Given the description of an element on the screen output the (x, y) to click on. 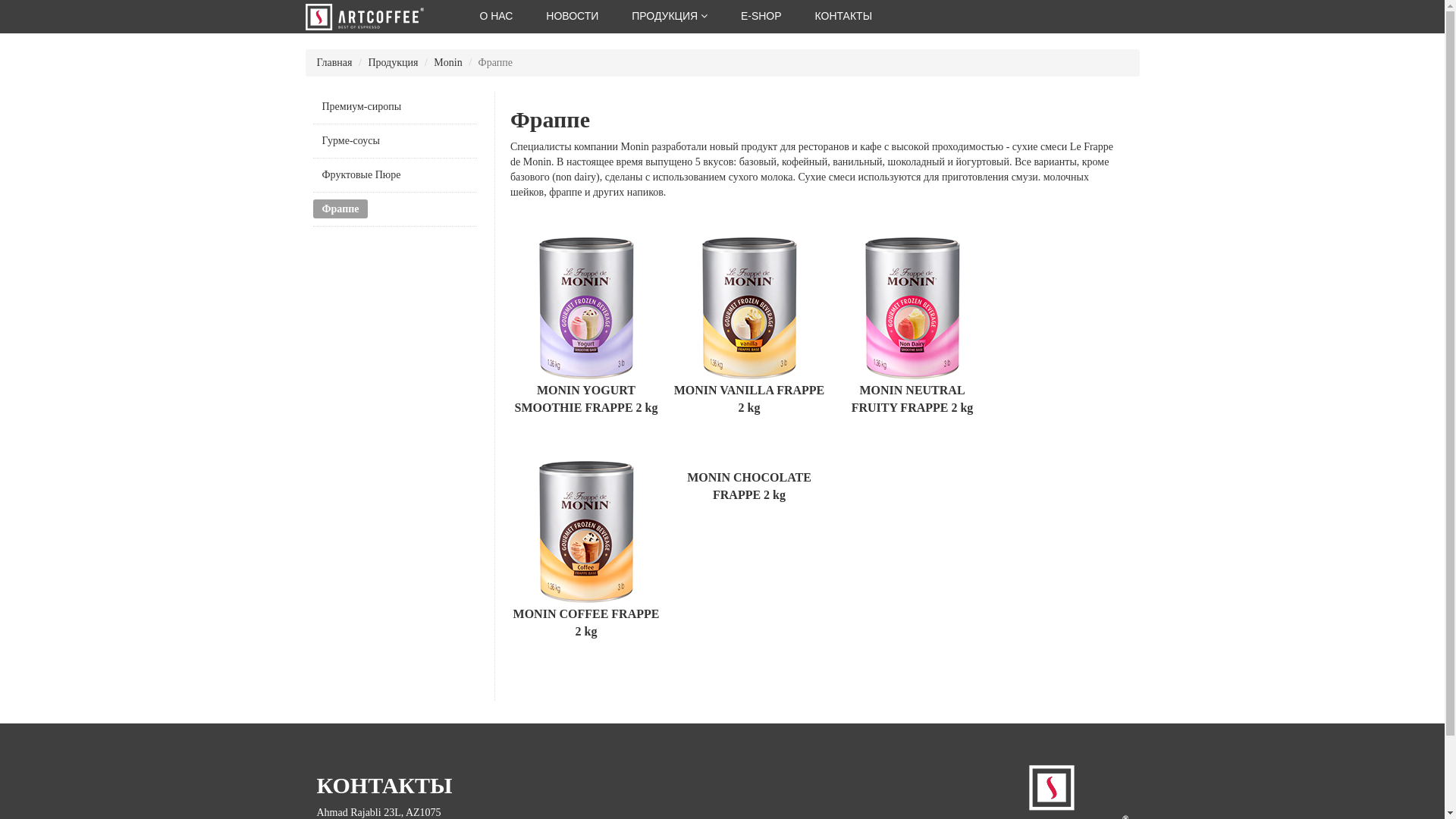
Monin Element type: text (447, 62)
MONIN VANILLA FRAPPE 2 kg Element type: text (749, 336)
MONIN CHOCOLATE FRAPPE 2 kg Element type: text (749, 560)
E-SHOP Element type: text (760, 15)
MONIN COFFEE FRAPPE 2 kg Element type: text (586, 560)
MONIN YOGURT SMOOTHIE FRAPPE 2 kg Element type: text (586, 336)
MONIN NEUTRAL FRUITY FRAPPE 2 kg Element type: text (912, 336)
